Given the description of an element on the screen output the (x, y) to click on. 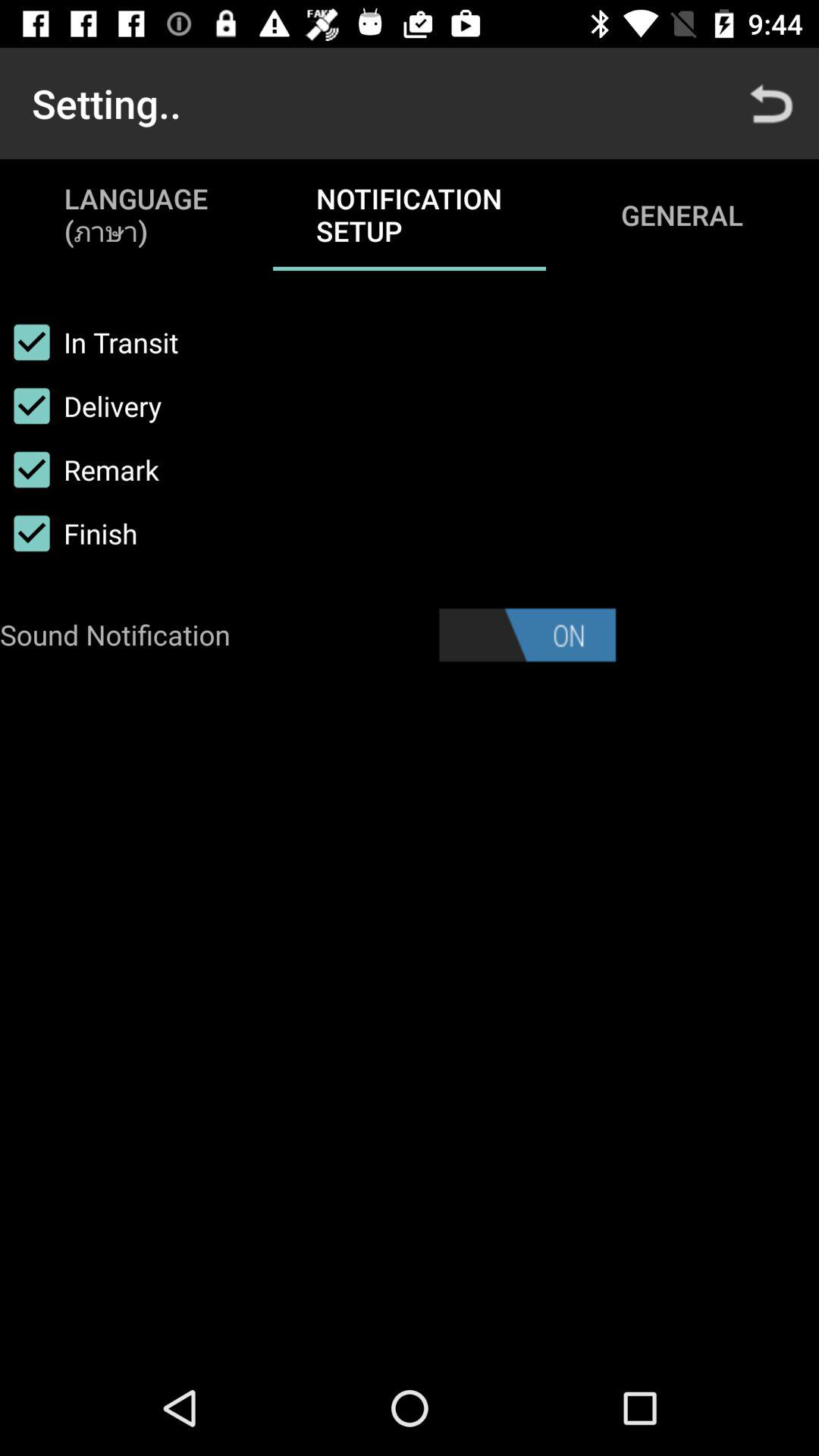
launch item at the center (527, 634)
